Given the description of an element on the screen output the (x, y) to click on. 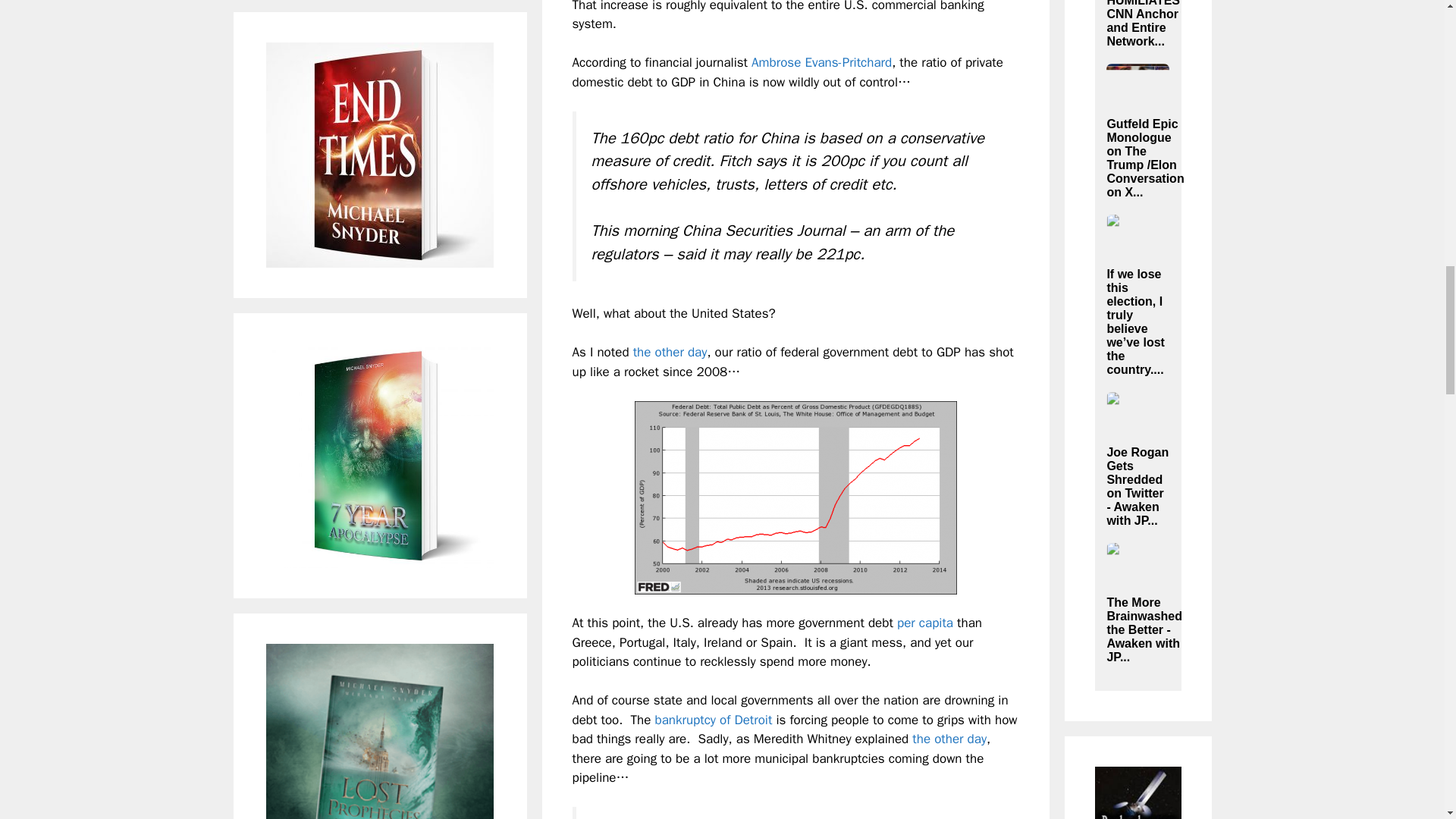
bankruptcy of Detroit (714, 719)
Ambrose Evans-Pritchard (821, 62)
the other day (670, 351)
the other day (670, 351)
the other day (949, 738)
per capita (924, 622)
the other day (949, 738)
Ambrose Evans-Pritchard (821, 62)
bankruptcy of Detroit (714, 719)
per capita (924, 622)
